Given the description of an element on the screen output the (x, y) to click on. 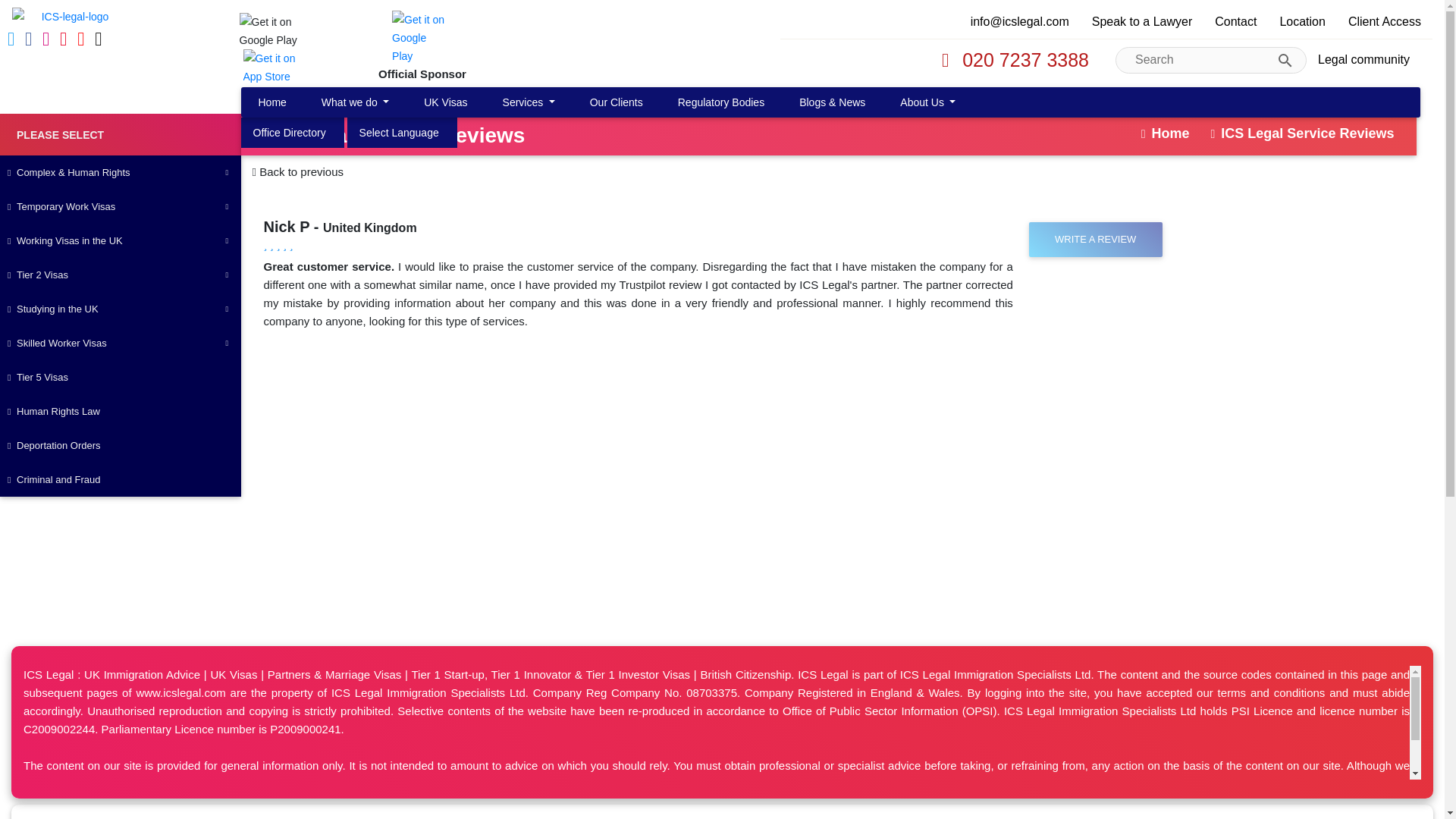
What we do (354, 101)
Official Sponsor (440, 46)
Location (1302, 21)
Contact (1236, 21)
Client Access (1384, 21)
020 7237 3388 (1010, 59)
Legal community (1363, 59)
Speak to a Lawyer (1142, 21)
Location (399, 132)
Location (289, 132)
